Given the description of an element on the screen output the (x, y) to click on. 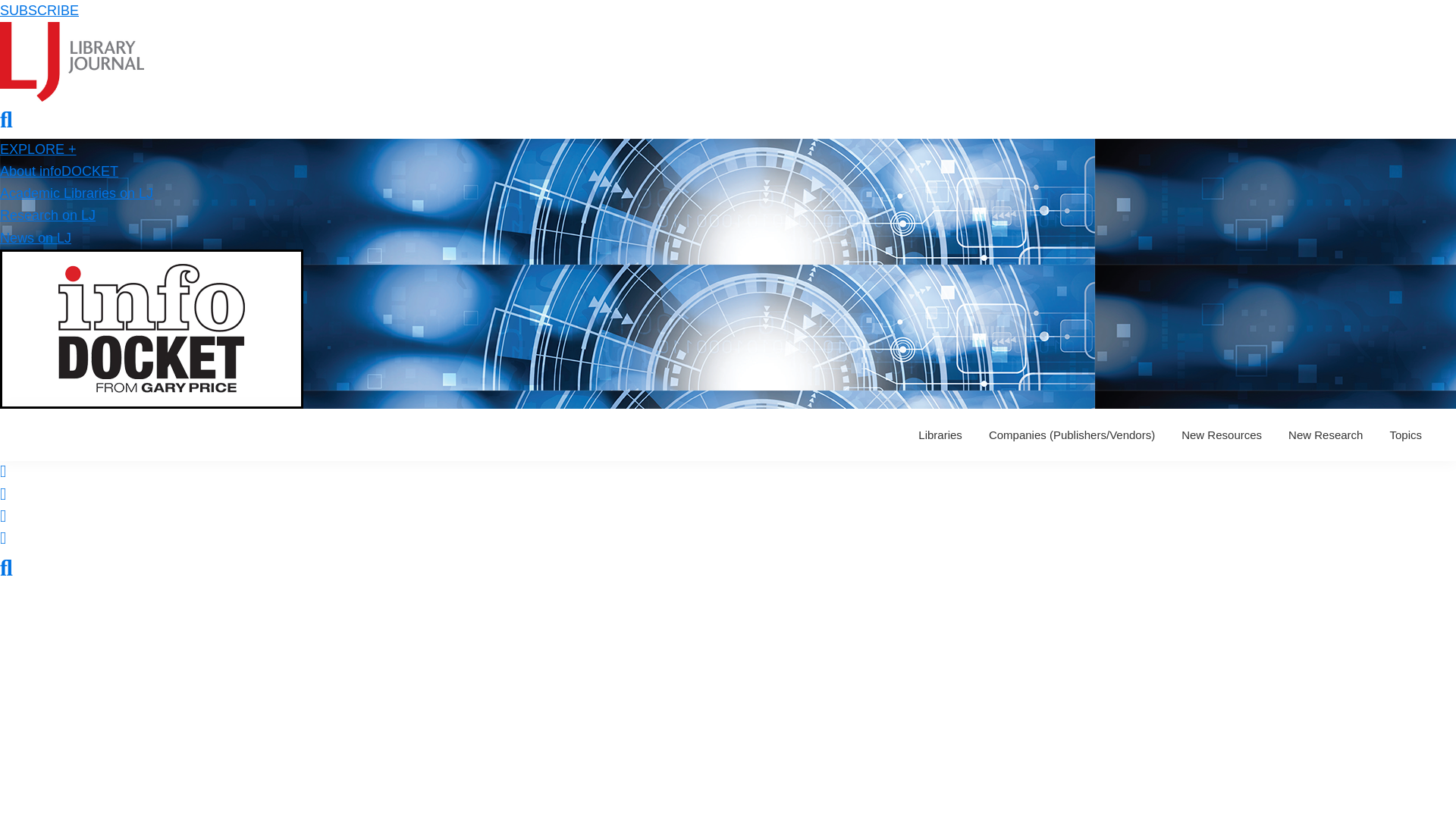
News on LJ (35, 237)
New Research (1325, 434)
About infoDOCKET (58, 171)
Research on LJ (48, 215)
Libraries (940, 434)
New Resources (1221, 434)
SUBSCRIBE (39, 10)
Academic Libraries on LJ (76, 192)
